Given the description of an element on the screen output the (x, y) to click on. 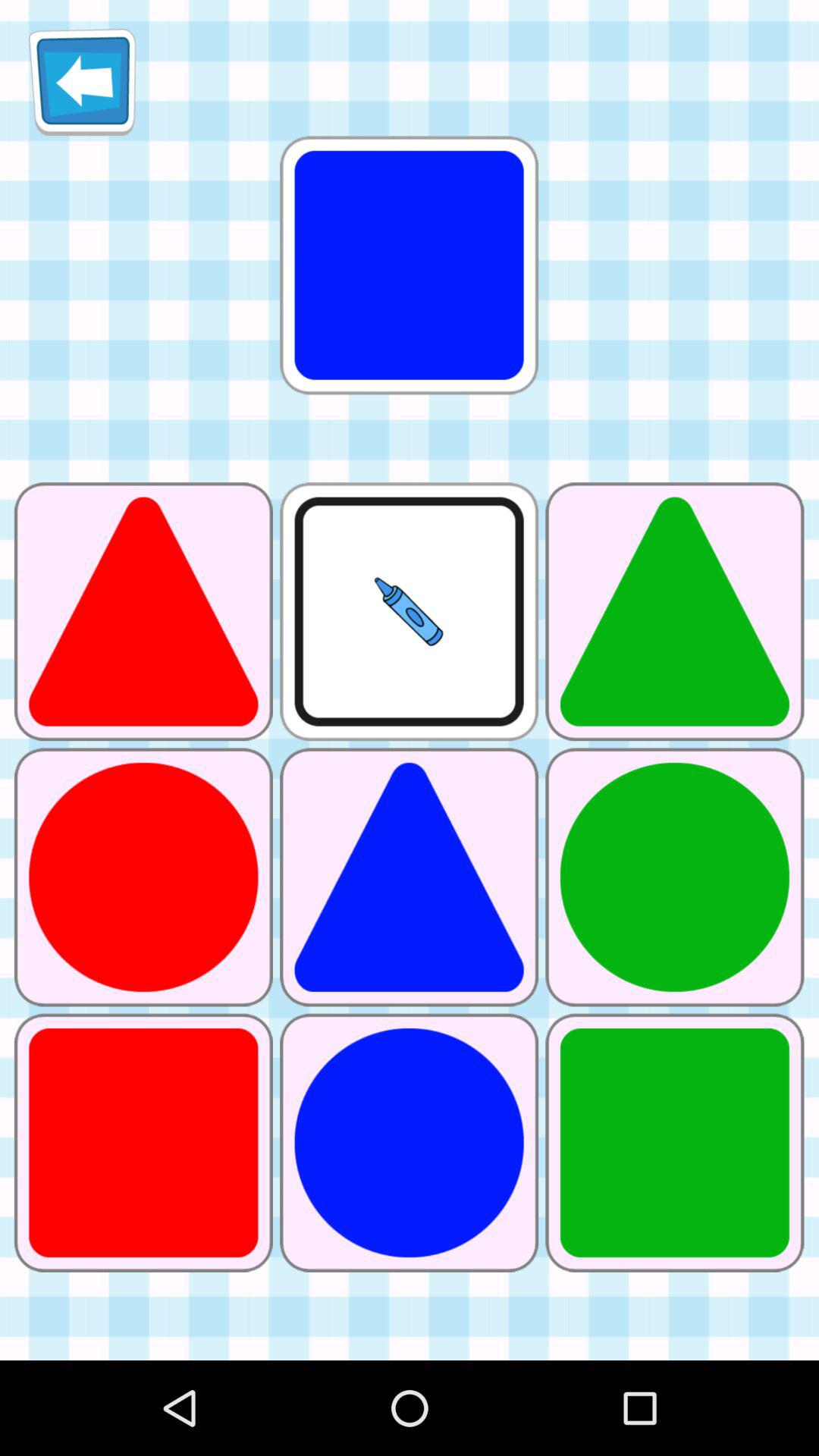
turn off icon at the top left corner (82, 82)
